Given the description of an element on the screen output the (x, y) to click on. 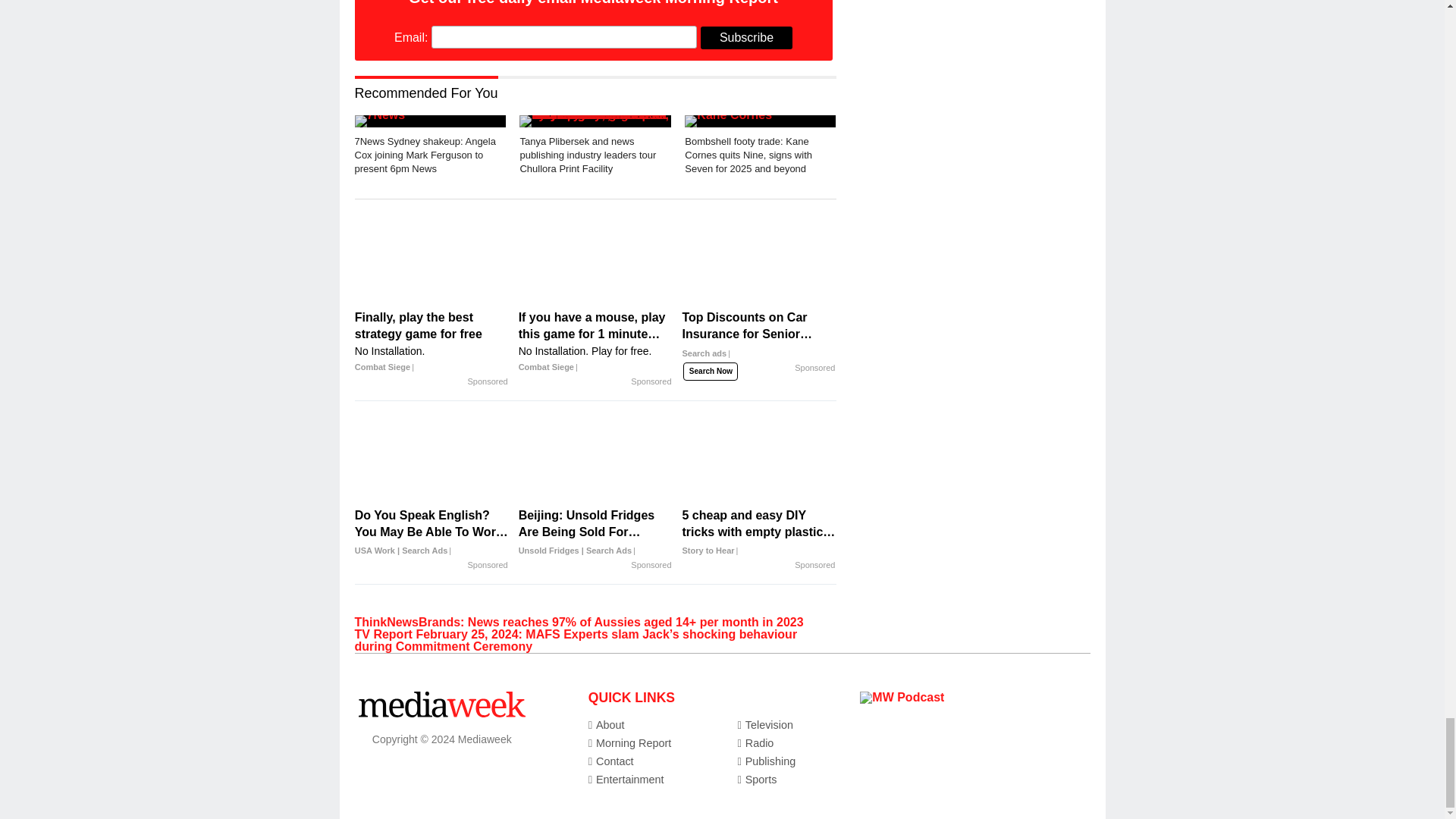
Top Discounts on Car Insurance for Senior Drivers (758, 340)
Subscribe (746, 37)
Finally, play the best strategy game for free (431, 342)
